Given the description of an element on the screen output the (x, y) to click on. 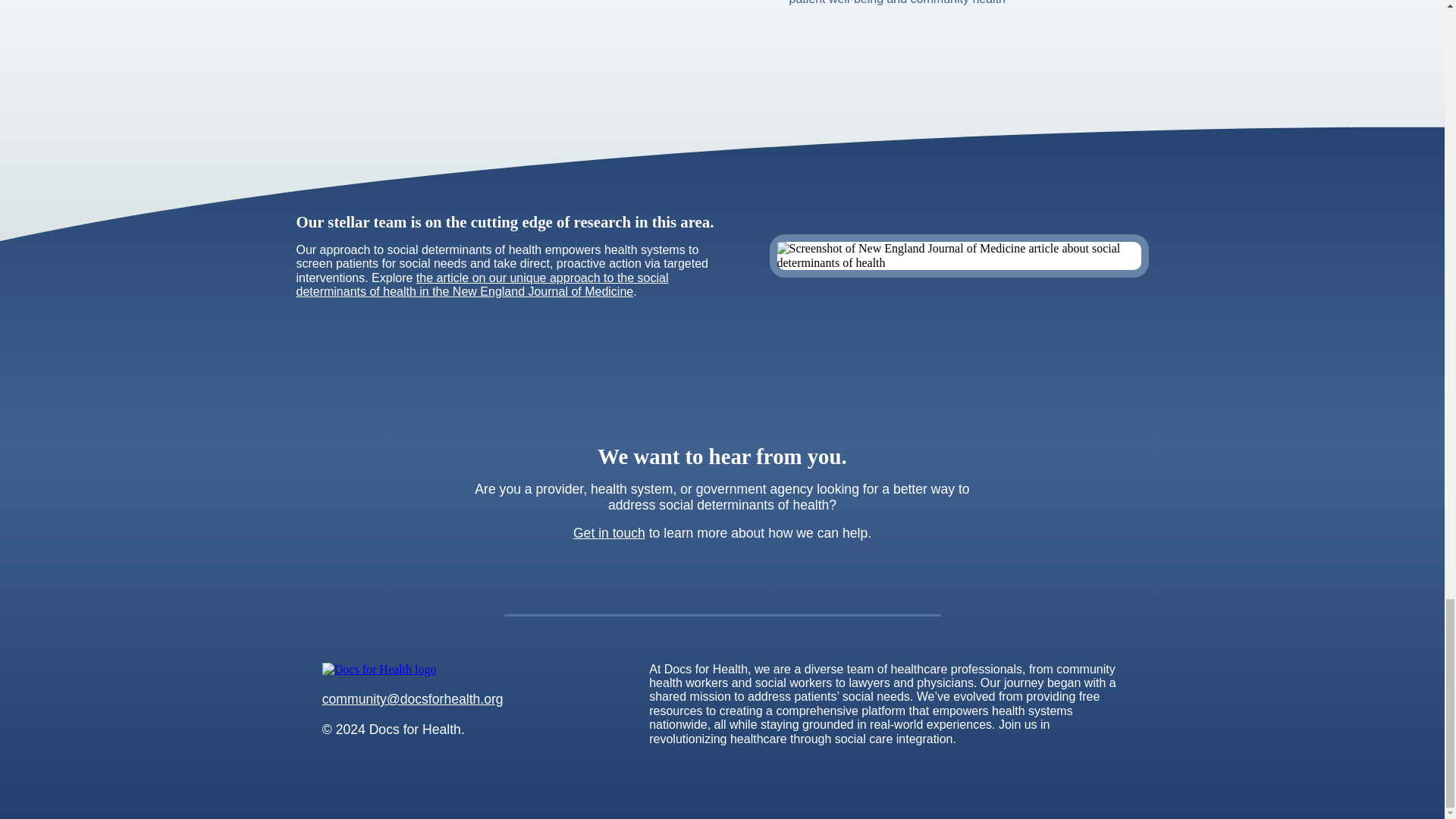
Get in touch (609, 532)
